Given the description of an element on the screen output the (x, y) to click on. 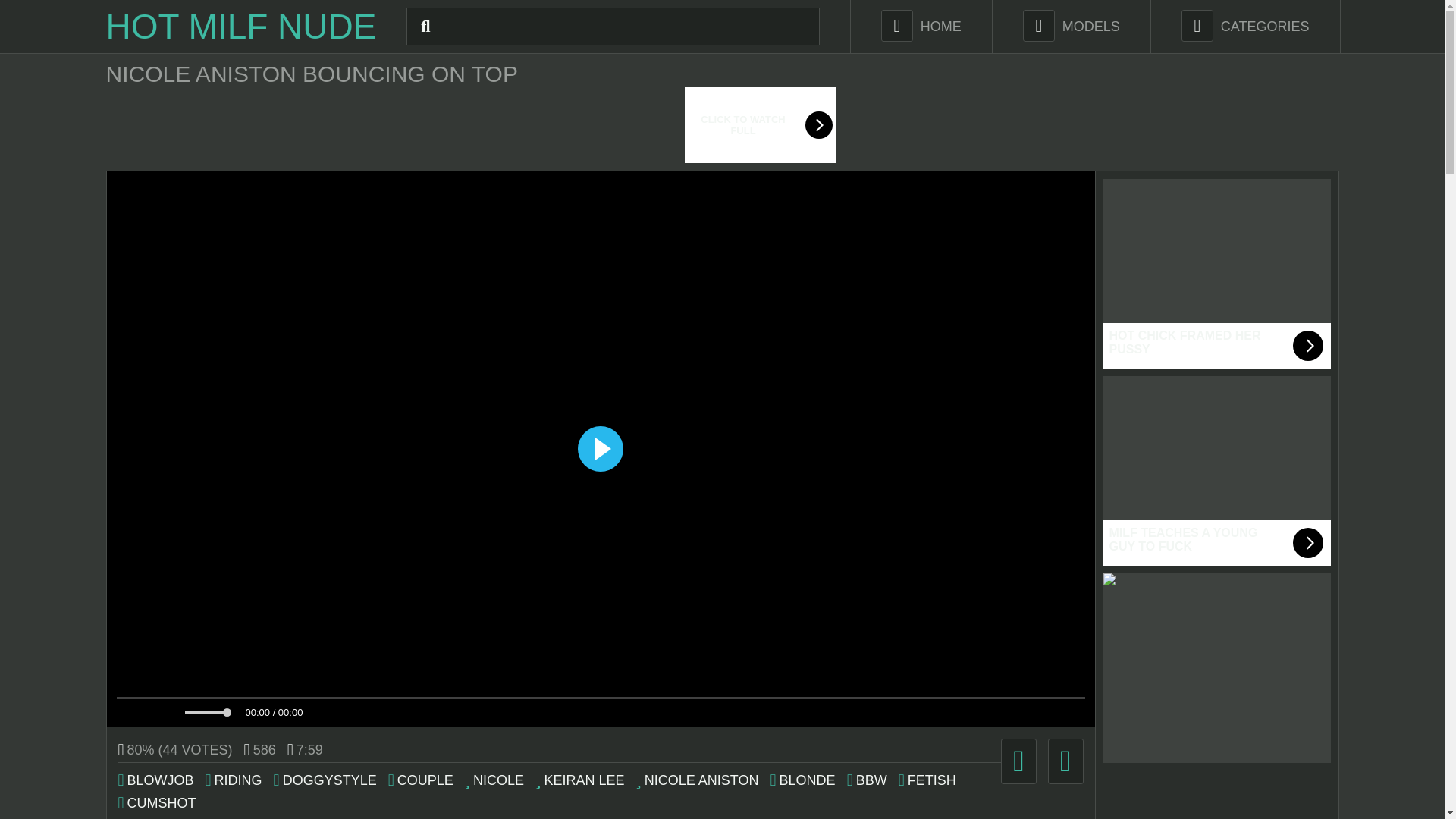
RIDING (233, 780)
CLICK TO WATCH FULL (721, 124)
CATEGORIES (1245, 26)
CUMSHOT (156, 803)
MODELS (1071, 26)
NICOLE ANISTON (696, 780)
BBW (866, 780)
HOME (920, 26)
COUPLE (420, 780)
DOGGYSTYLE (325, 780)
HOT MILF NUDE (241, 26)
KEIRAN LEE (579, 780)
MILF TEACHES A YOUNG GUY TO FUCK (1216, 470)
FETISH (927, 780)
NICOLE (494, 780)
